Given the description of an element on the screen output the (x, y) to click on. 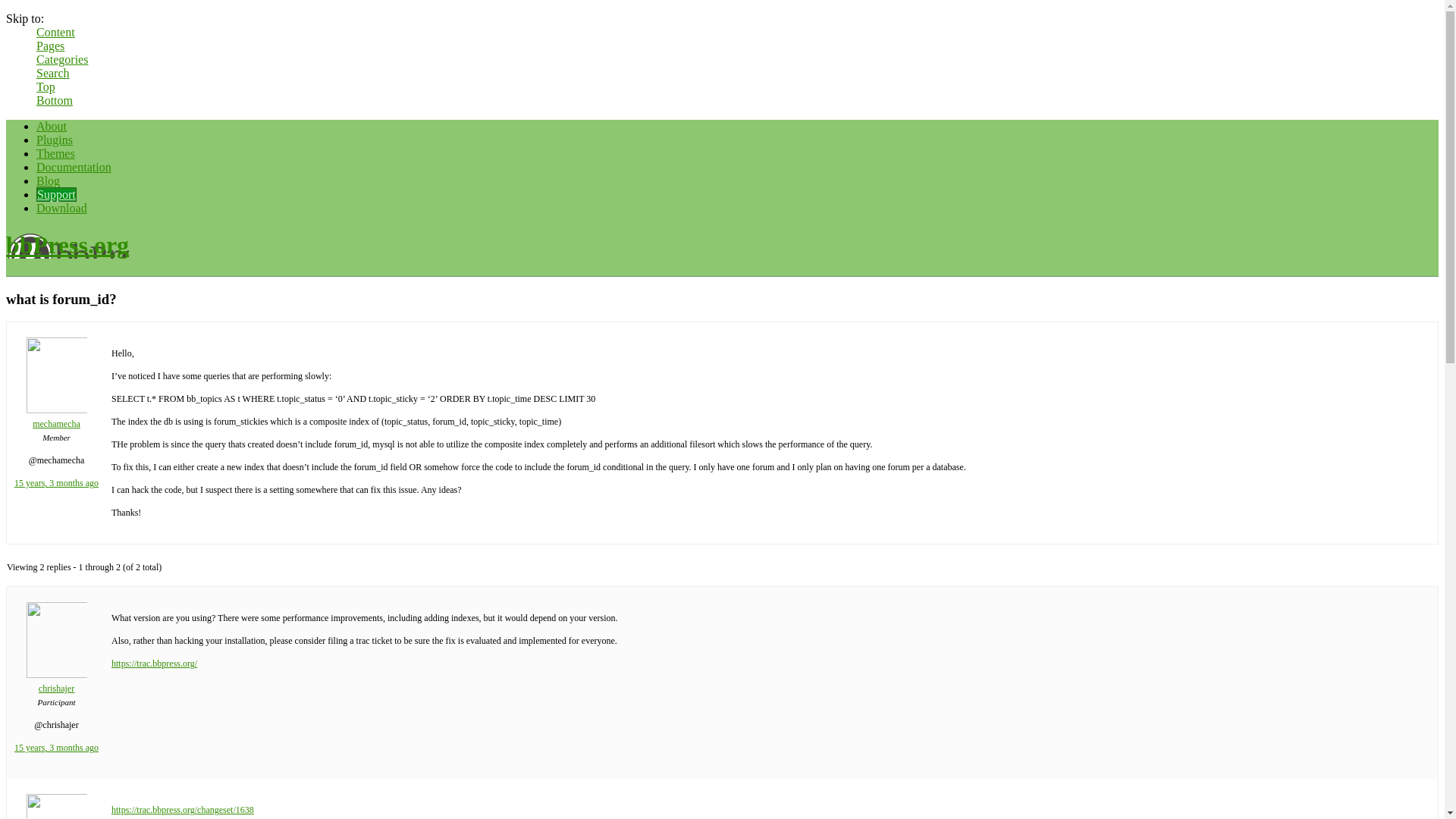
bbPress.org (67, 244)
Pages (50, 45)
Documentation (74, 166)
Download (61, 207)
15 years, 3 months ago (56, 747)
Blog (47, 180)
Top (45, 86)
15 years, 3 months ago (56, 482)
mechamecha (56, 417)
Search (52, 72)
Support (56, 194)
Categories (61, 59)
Bottom (54, 100)
chrishajer (56, 682)
About (51, 125)
